Given the description of an element on the screen output the (x, y) to click on. 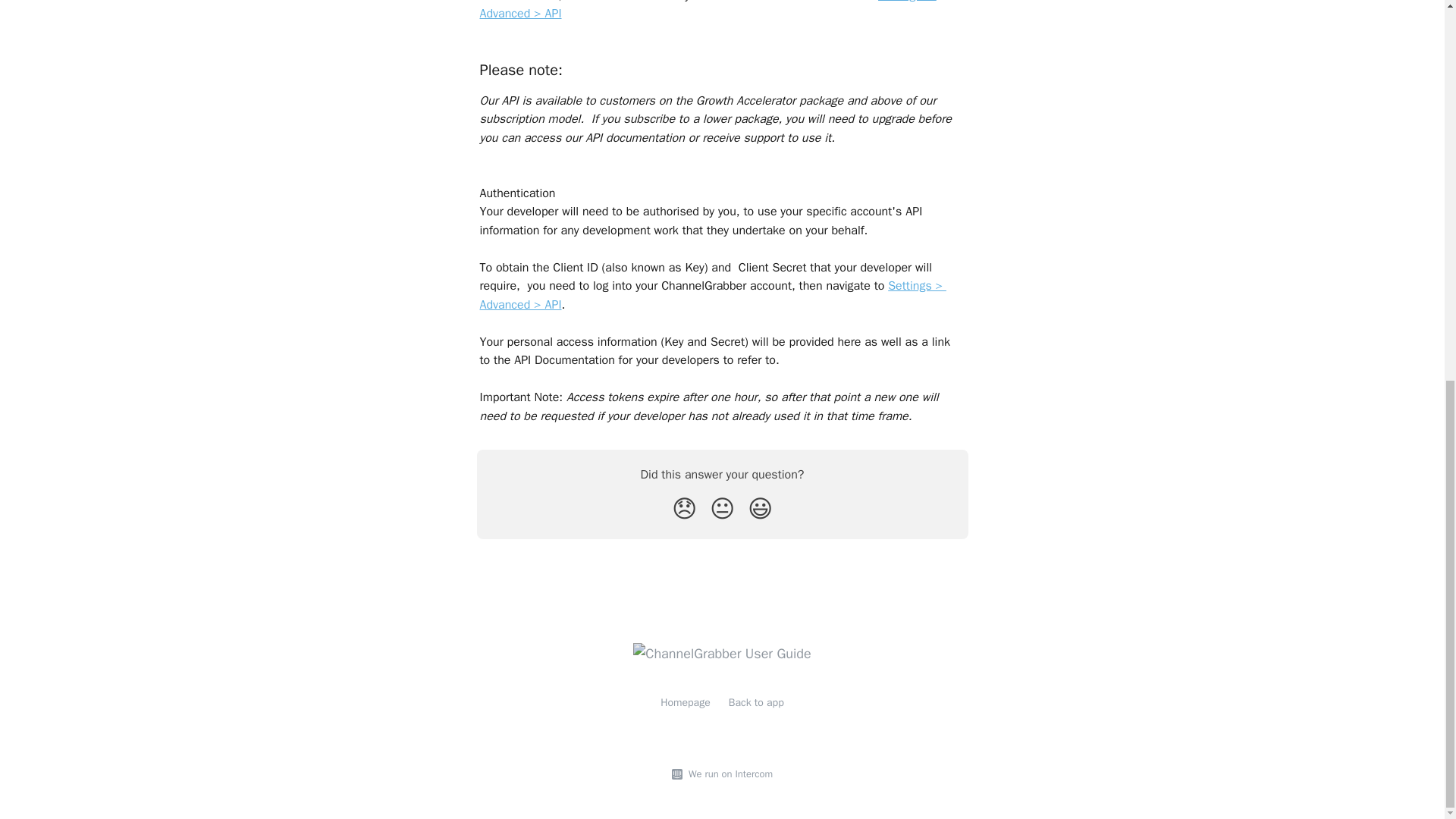
Homepage (685, 702)
We run on Intercom (727, 774)
Back to app (756, 702)
